Given the description of an element on the screen output the (x, y) to click on. 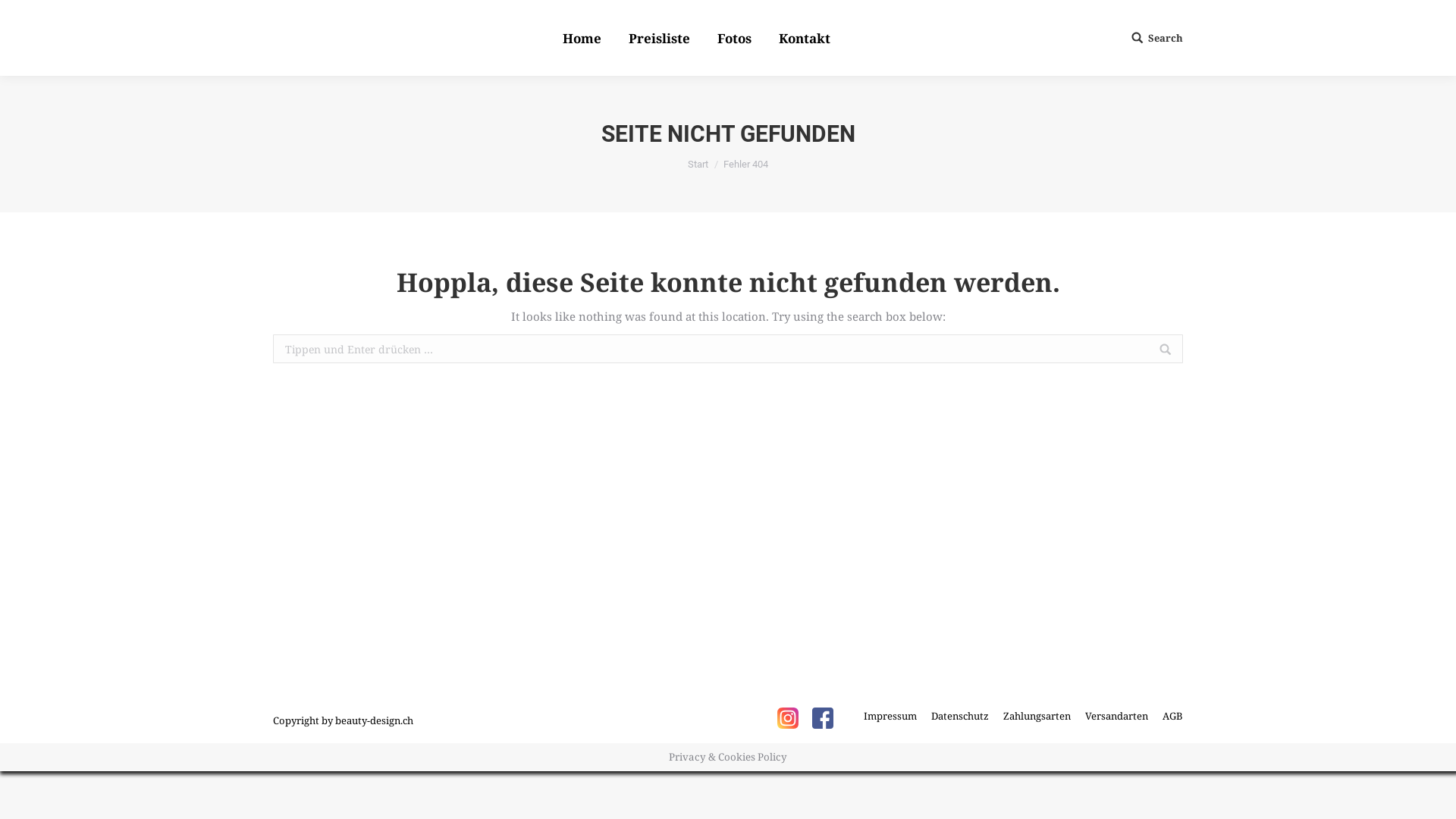
Datenschutz Element type: text (959, 715)
Fotos Element type: text (734, 37)
Start Element type: text (697, 163)
AGB Element type: text (1172, 715)
Preisliste Element type: text (659, 37)
Search Element type: text (1157, 37)
Kontakt Element type: text (804, 37)
Zahlungsarten Element type: text (1036, 715)
Home Element type: text (581, 37)
Versandarten Element type: text (1116, 715)
Los! Element type: text (23, 14)
Impressum Element type: text (889, 715)
